Given the description of an element on the screen output the (x, y) to click on. 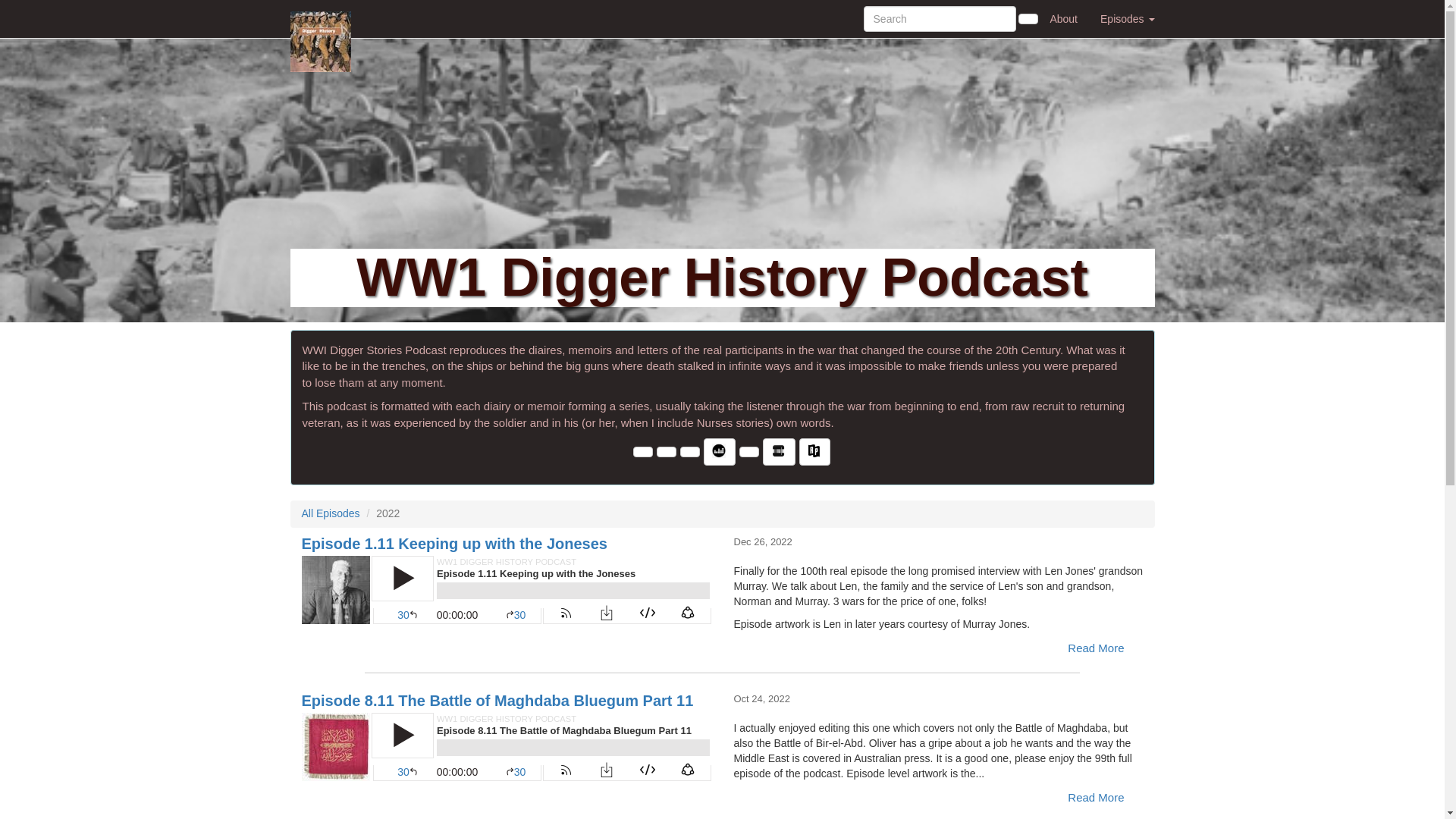
Episode 8.11 The Battle of Maghdaba Bluegum Part 11 (506, 746)
Home Page (320, 18)
Episodes (1127, 18)
About (1063, 18)
Episode 1.11 Keeping up with the Joneses (506, 590)
